Given the description of an element on the screen output the (x, y) to click on. 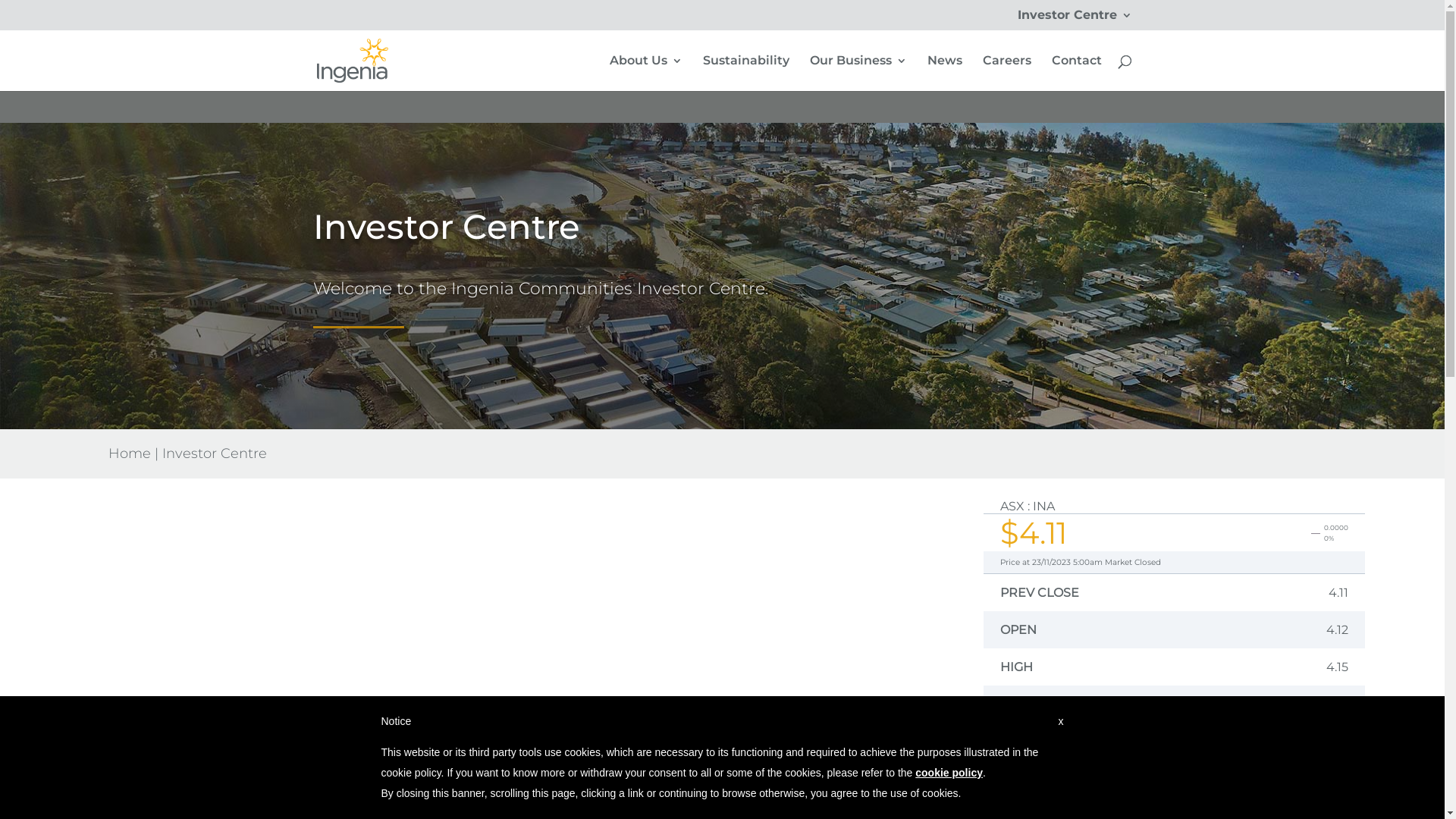
Careers Element type: text (1006, 73)
Contact Element type: text (1076, 73)
News Element type: text (943, 73)
About Us Element type: text (645, 73)
Home Element type: text (129, 453)
Our Business Element type: text (857, 73)
x Element type: text (1060, 721)
Sustainability Element type: text (745, 73)
Investor Centre Element type: text (1074, 19)
cookie policy Element type: text (948, 772)
